Given the description of an element on the screen output the (x, y) to click on. 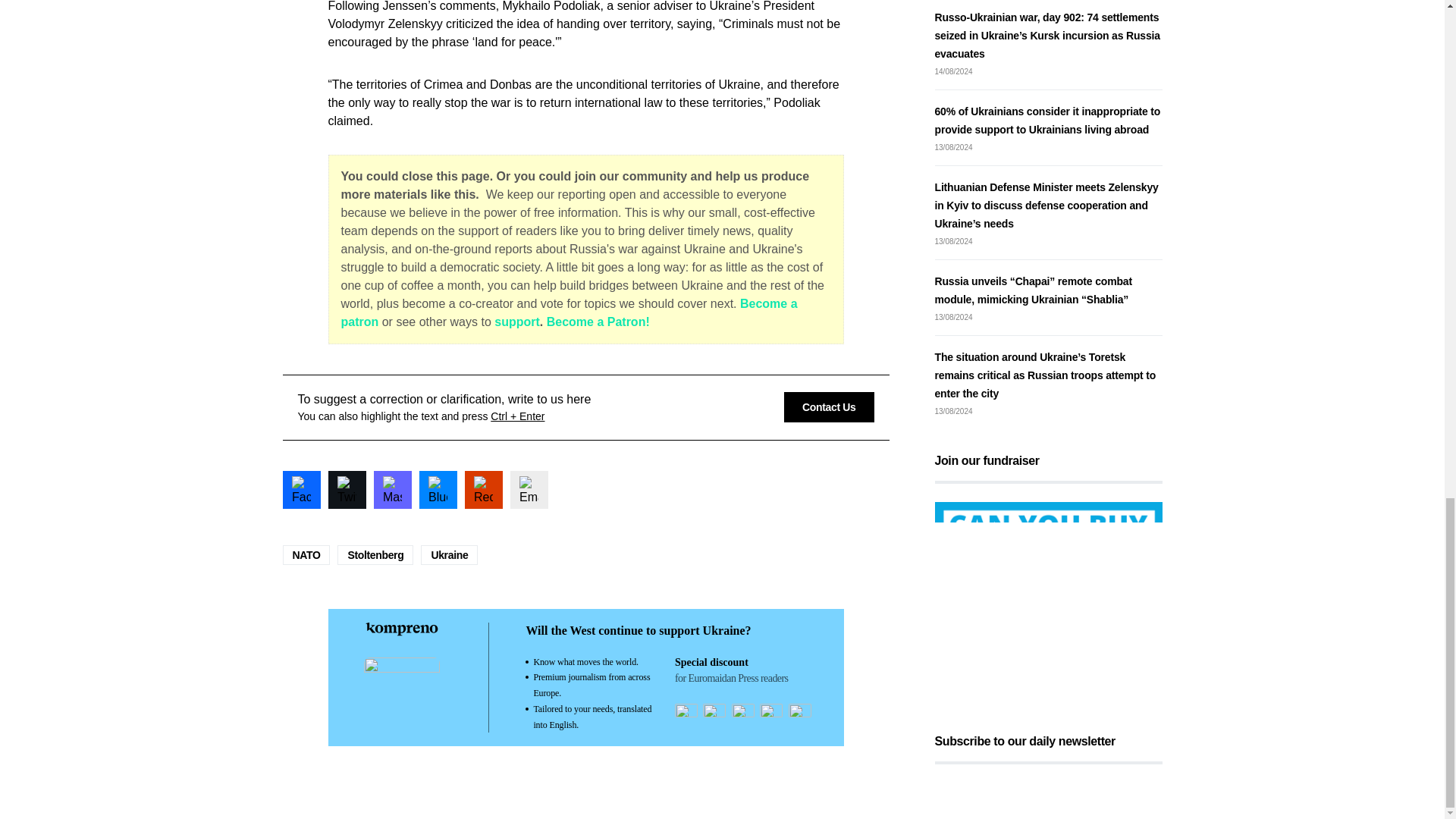
Share to Reddit (483, 489)
Share to Bluesky (438, 489)
Share to Twitter (346, 489)
Share to Email (528, 489)
Share to Mastodon (391, 489)
Share to Facebook (301, 489)
